Given the description of an element on the screen output the (x, y) to click on. 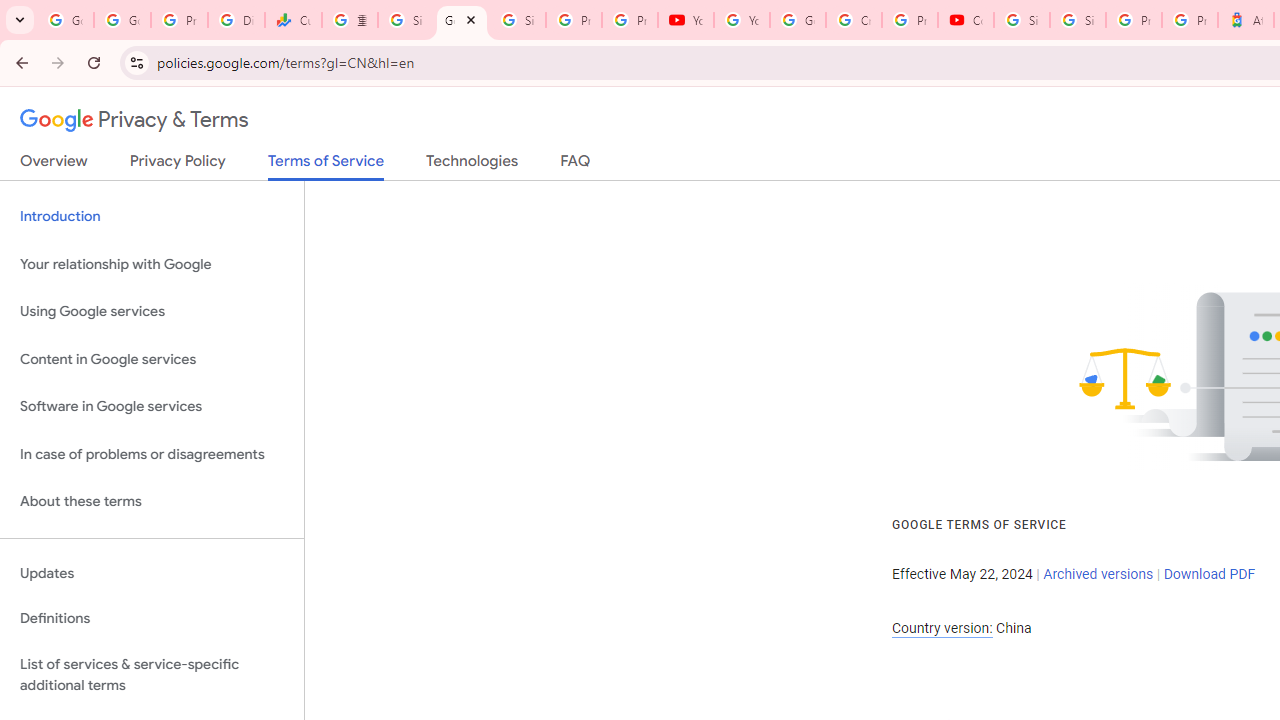
Google Workspace Admin Community (65, 20)
Sign in - Google Accounts (1021, 20)
Google Account Help (797, 20)
